Given the description of an element on the screen output the (x, y) to click on. 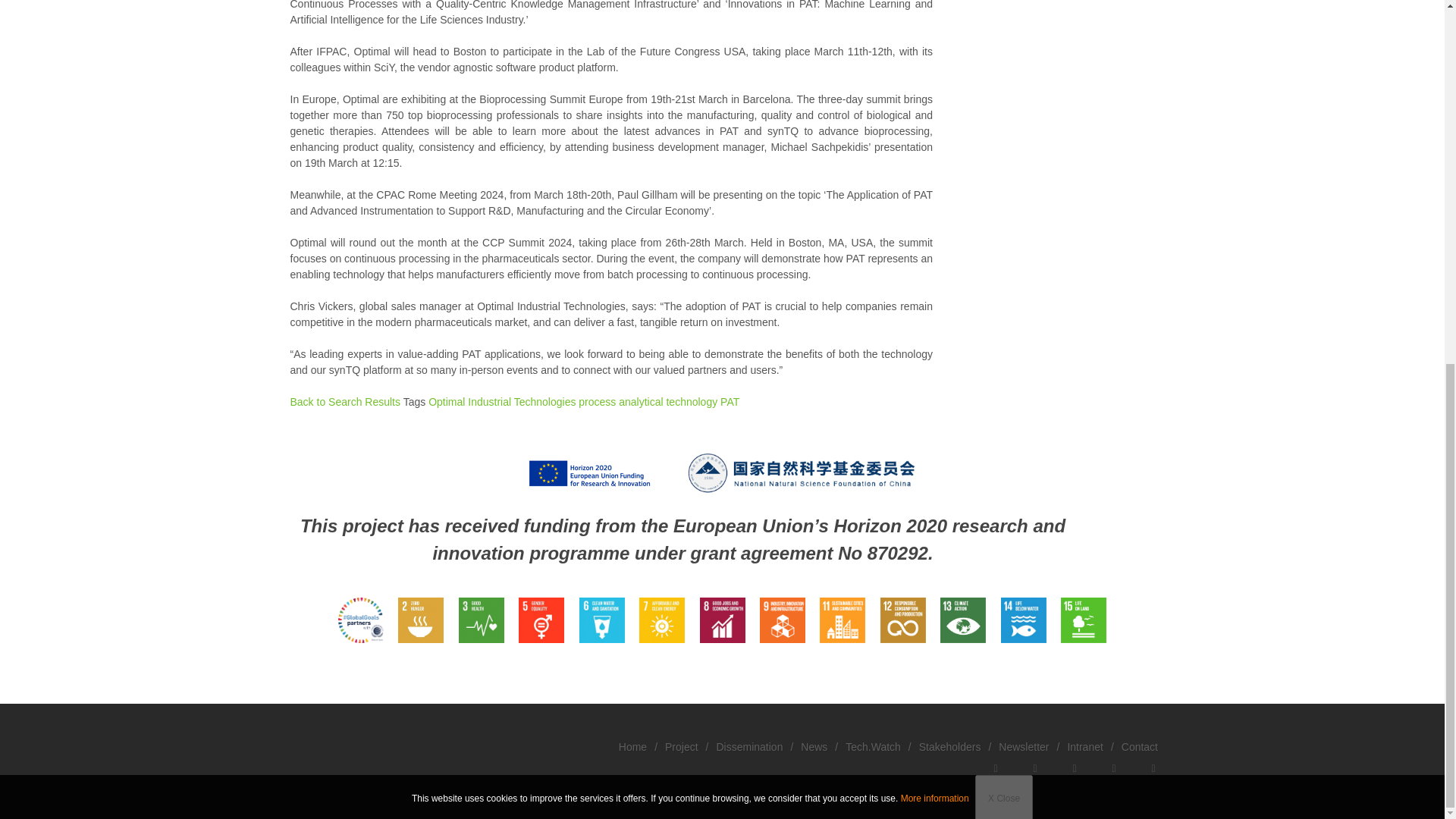
Optimal Industrial Technologies (496, 401)
process analytical technology (645, 401)
Back to Search Results (336, 401)
X Close (1003, 147)
PAT (728, 401)
